Given the description of an element on the screen output the (x, y) to click on. 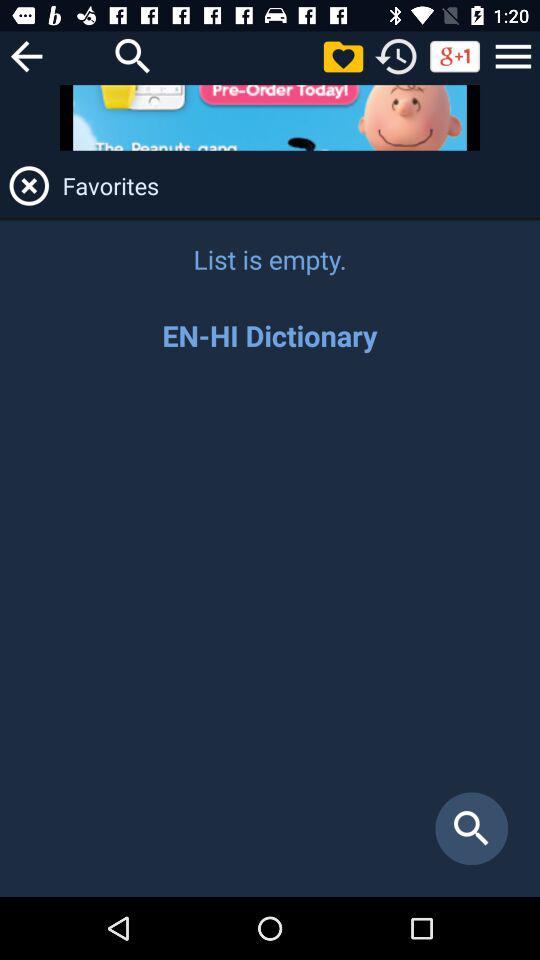
close favorites (29, 185)
